Given the description of an element on the screen output the (x, y) to click on. 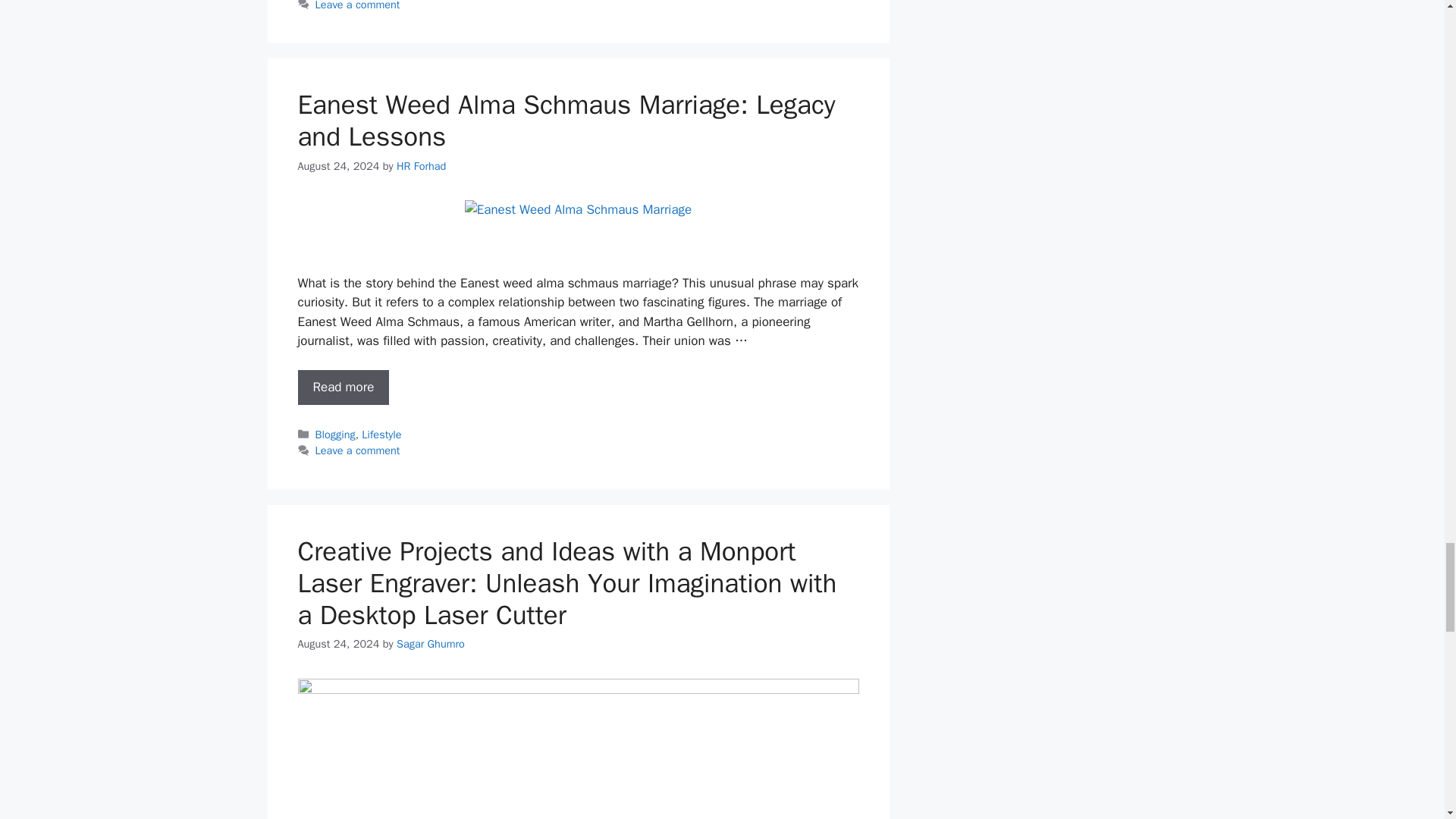
View all posts by Sagar Ghumro (430, 643)
View all posts by HR Forhad (420, 165)
Eanest Weed Alma Schmaus Marriage: Legacy and Lessons (342, 387)
